Given the description of an element on the screen output the (x, y) to click on. 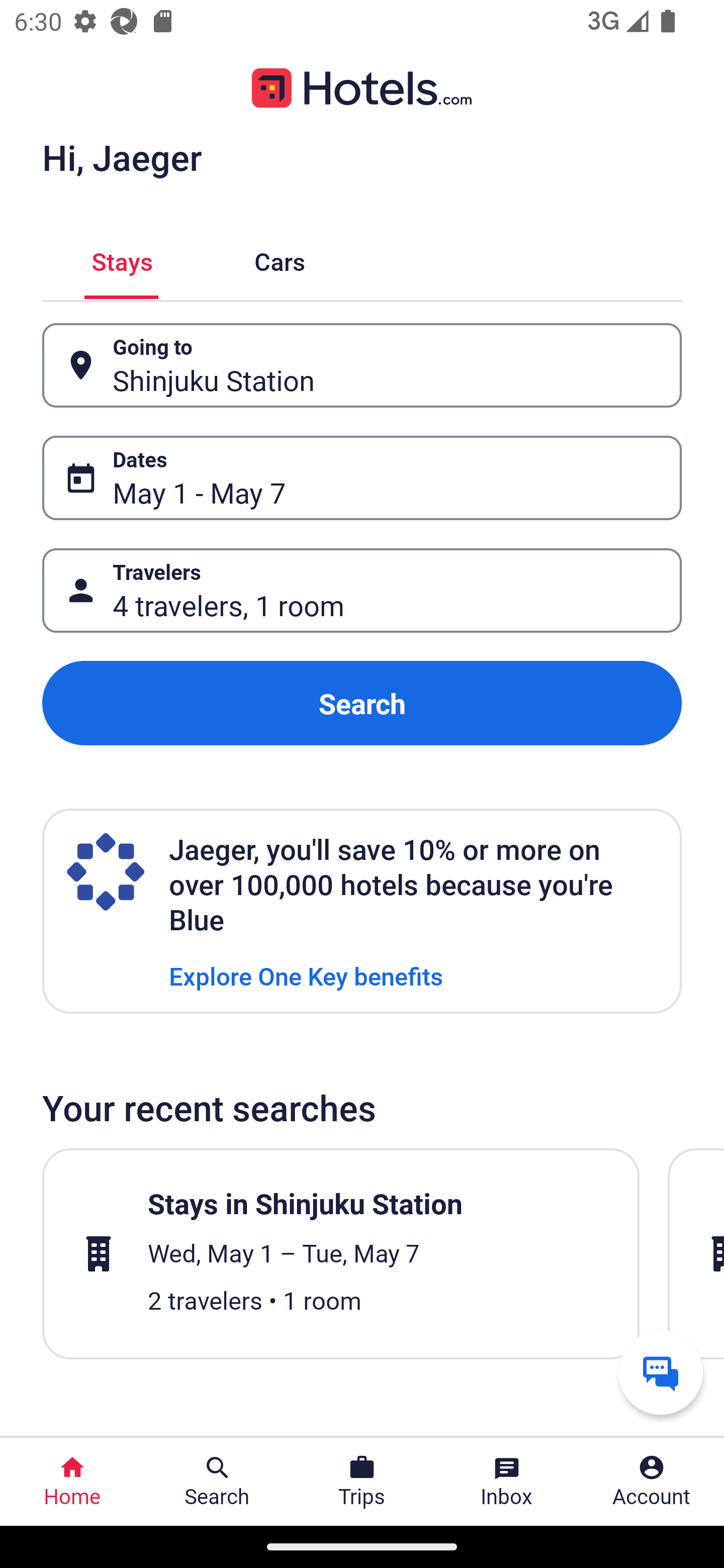
Hi, Jaeger (121, 156)
Cars (279, 259)
Going to Button Shinjuku Station (361, 365)
Dates Button May 1 - May 7 (361, 477)
Travelers Button 4 travelers, 1 room (361, 590)
Search (361, 702)
Get help from a virtual agent (660, 1371)
Search Search Button (216, 1481)
Trips Trips Button (361, 1481)
Inbox Inbox Button (506, 1481)
Account Profile. Button (651, 1481)
